Given the description of an element on the screen output the (x, y) to click on. 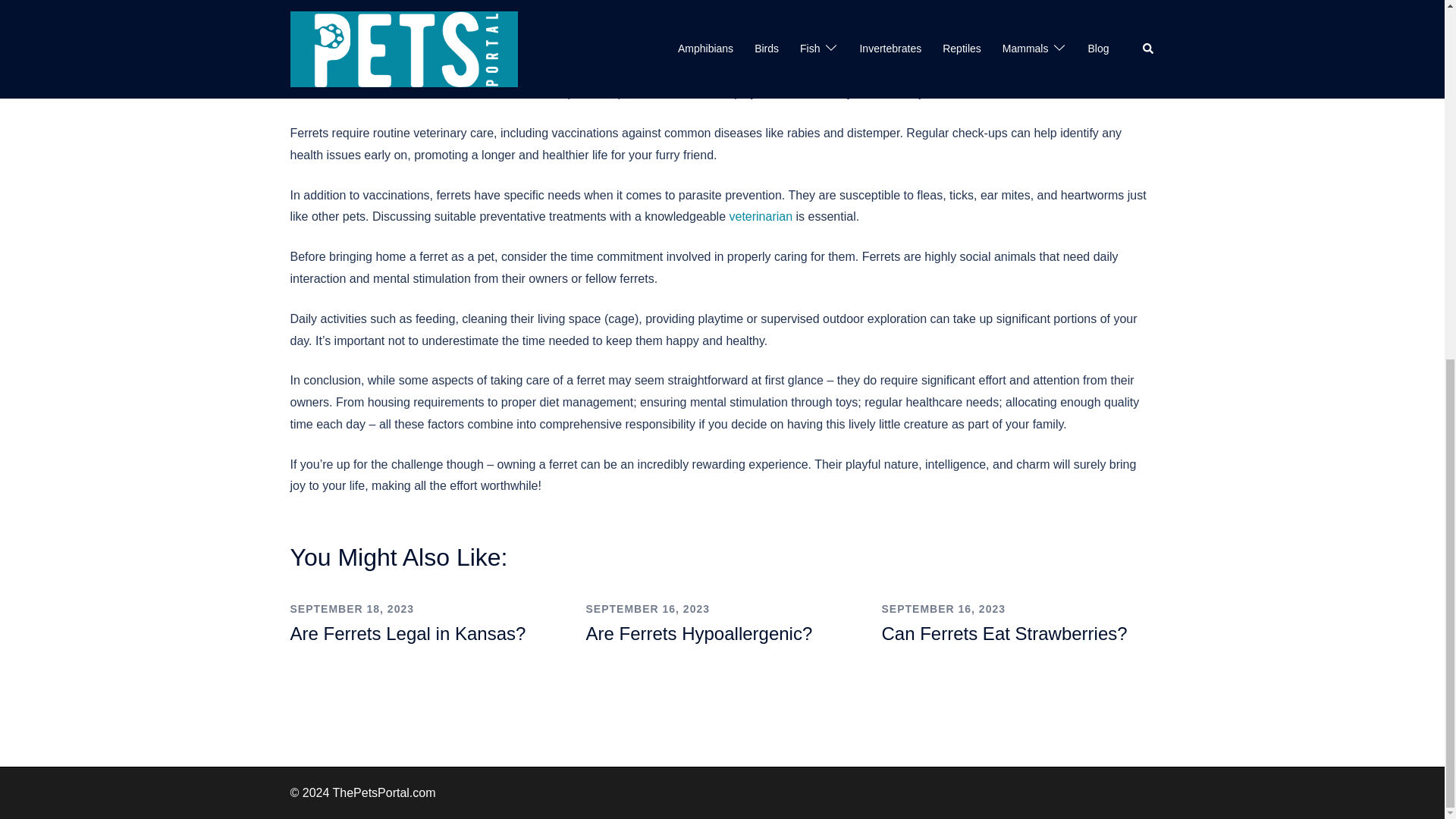
veterinarian (760, 215)
